Given the description of an element on the screen output the (x, y) to click on. 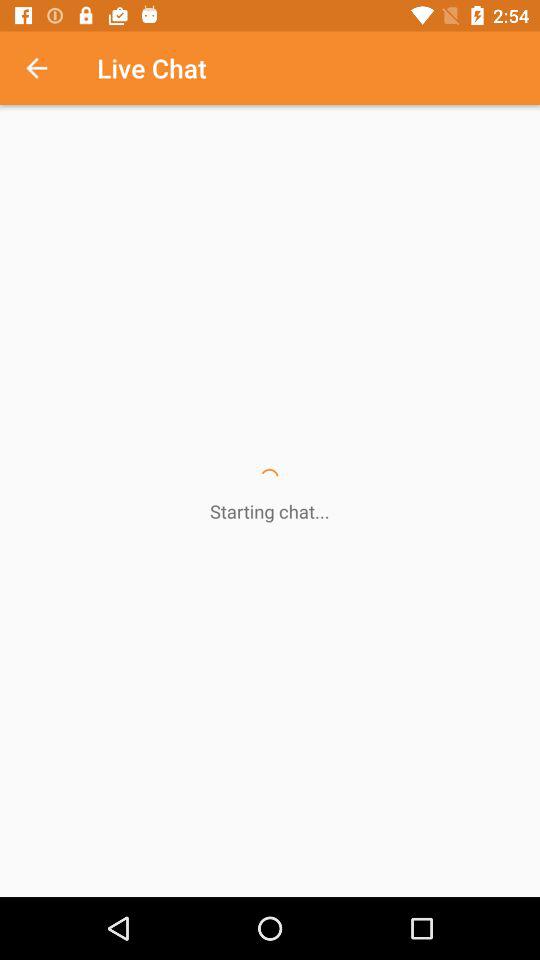
choose the icon next to the live chat icon (47, 68)
